Given the description of an element on the screen output the (x, y) to click on. 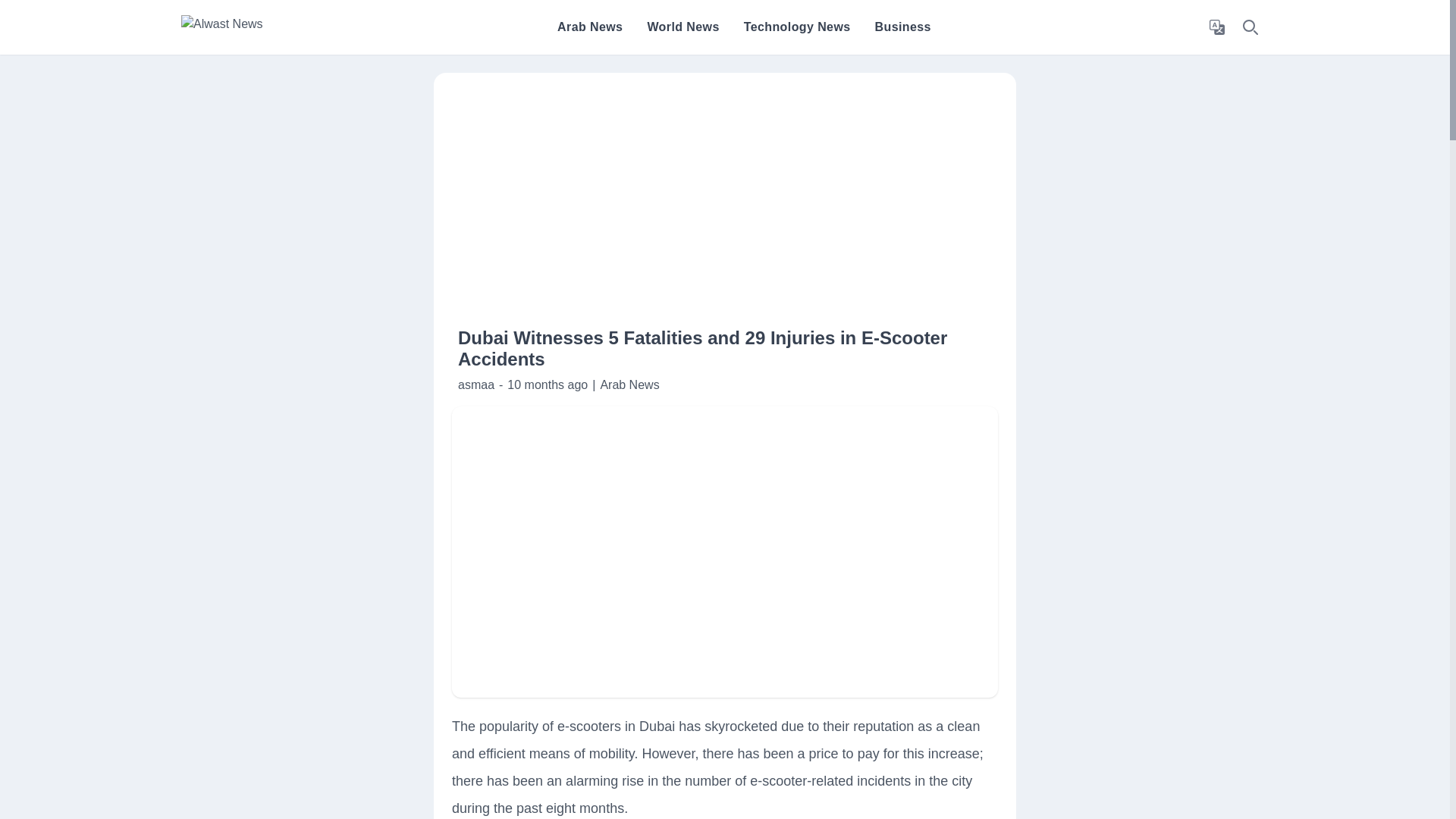
Arab News (629, 384)
Arab News (590, 27)
Technology News (797, 27)
Business (903, 27)
asmaa (476, 384)
Show All Posts for asmaa (476, 384)
World News (682, 27)
